Given the description of an element on the screen output the (x, y) to click on. 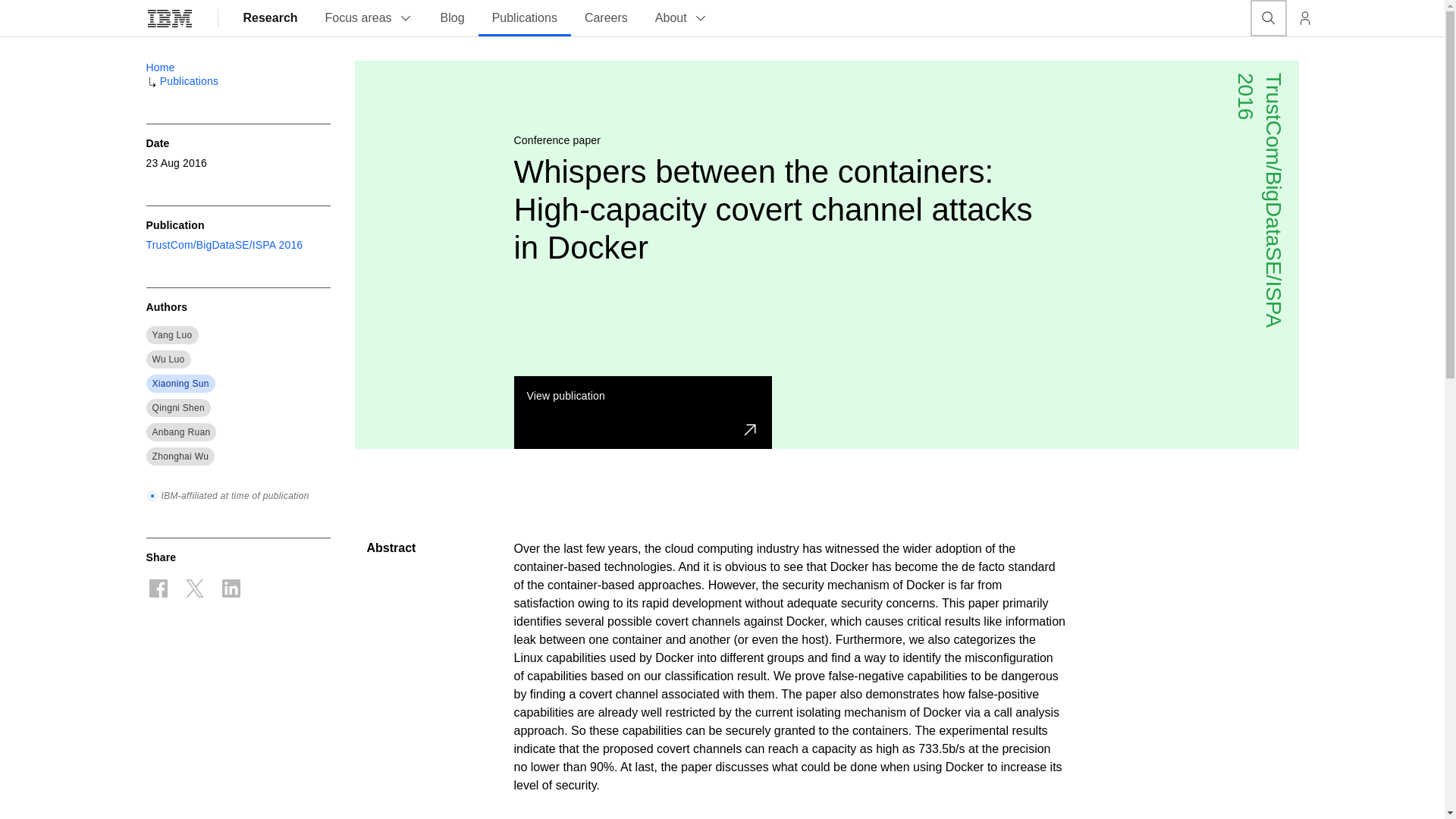
Wu Luo (167, 358)
Qingni Shen (178, 408)
Xiaoning Sun (179, 383)
Anbang Ruan (180, 431)
Zhonghai Wu (179, 456)
Yang Luo (171, 335)
